Given the description of an element on the screen output the (x, y) to click on. 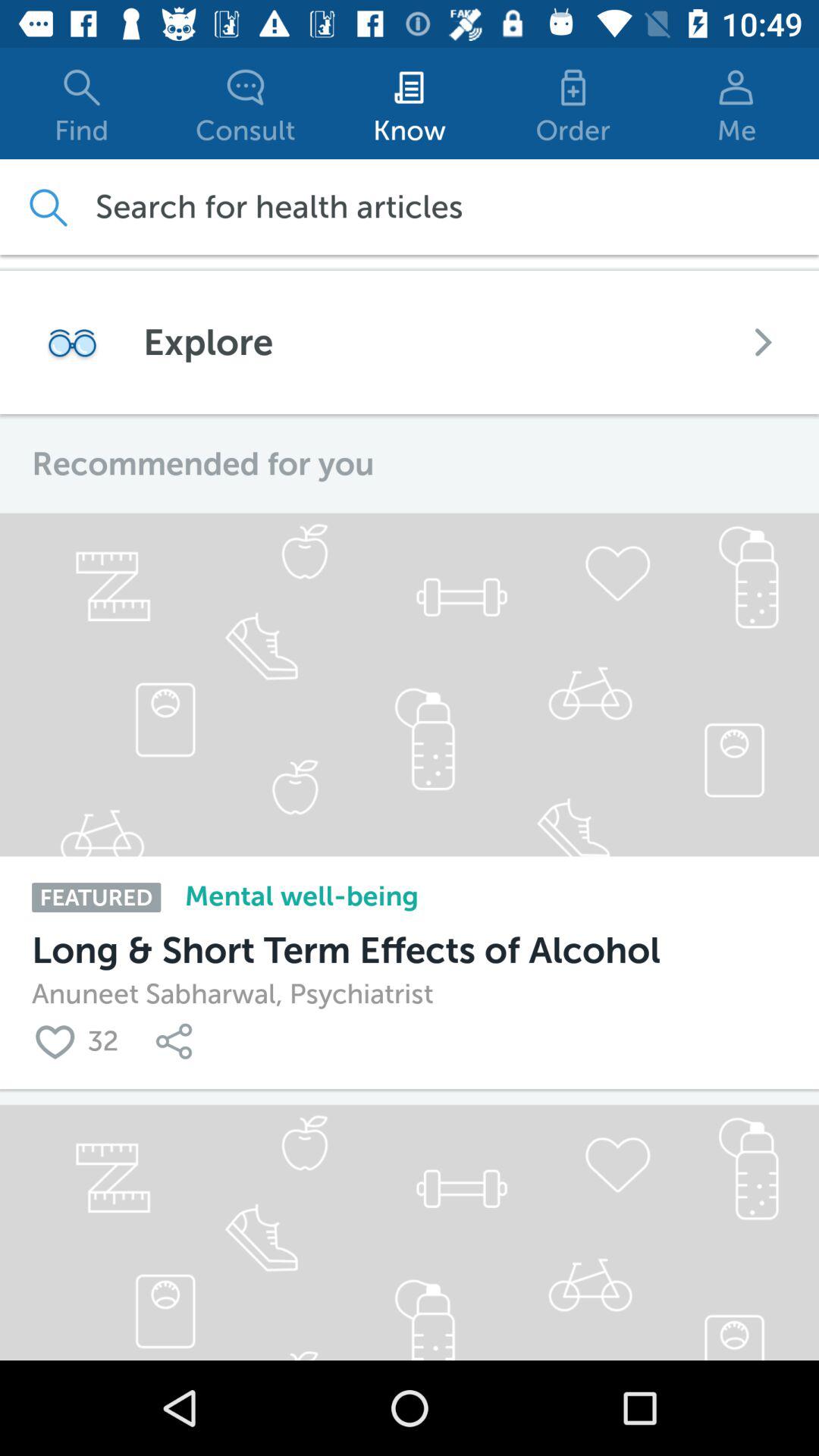
share article (177, 1041)
